Given the description of an element on the screen output the (x, y) to click on. 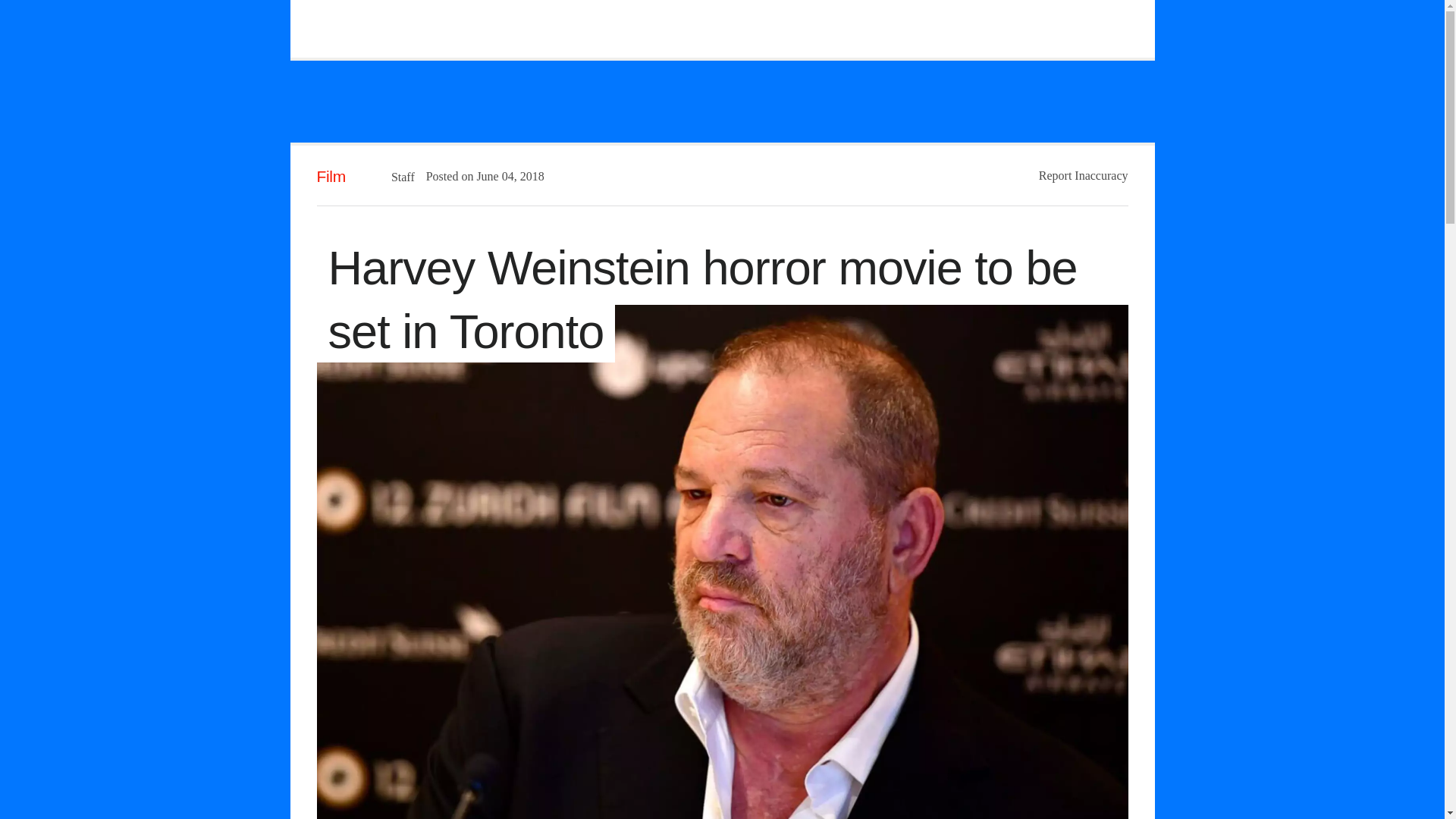
Film (331, 175)
2018-06-04T16:00:01 (502, 175)
Report Inaccuracy (1083, 174)
